Given the description of an element on the screen output the (x, y) to click on. 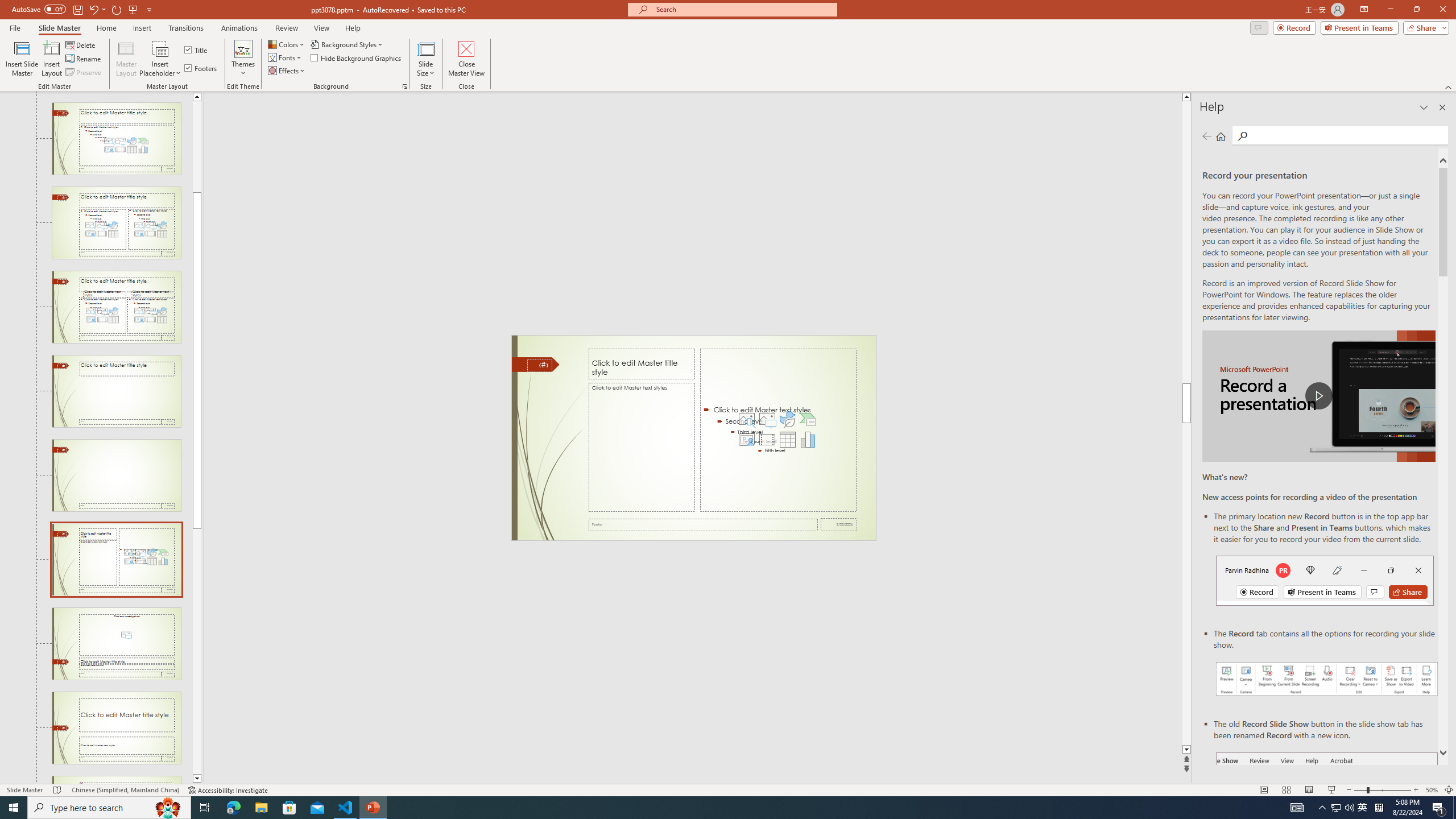
Insert Slide Master (21, 58)
Slide Blank Layout: used by no slides (116, 475)
Content (160, 48)
Previous page (1206, 136)
Insert Video (767, 439)
Slide Title and Content Layout: used by no slides (116, 138)
Date (839, 524)
Slide Quote with Caption Layout: used by no slides (116, 779)
